Given the description of an element on the screen output the (x, y) to click on. 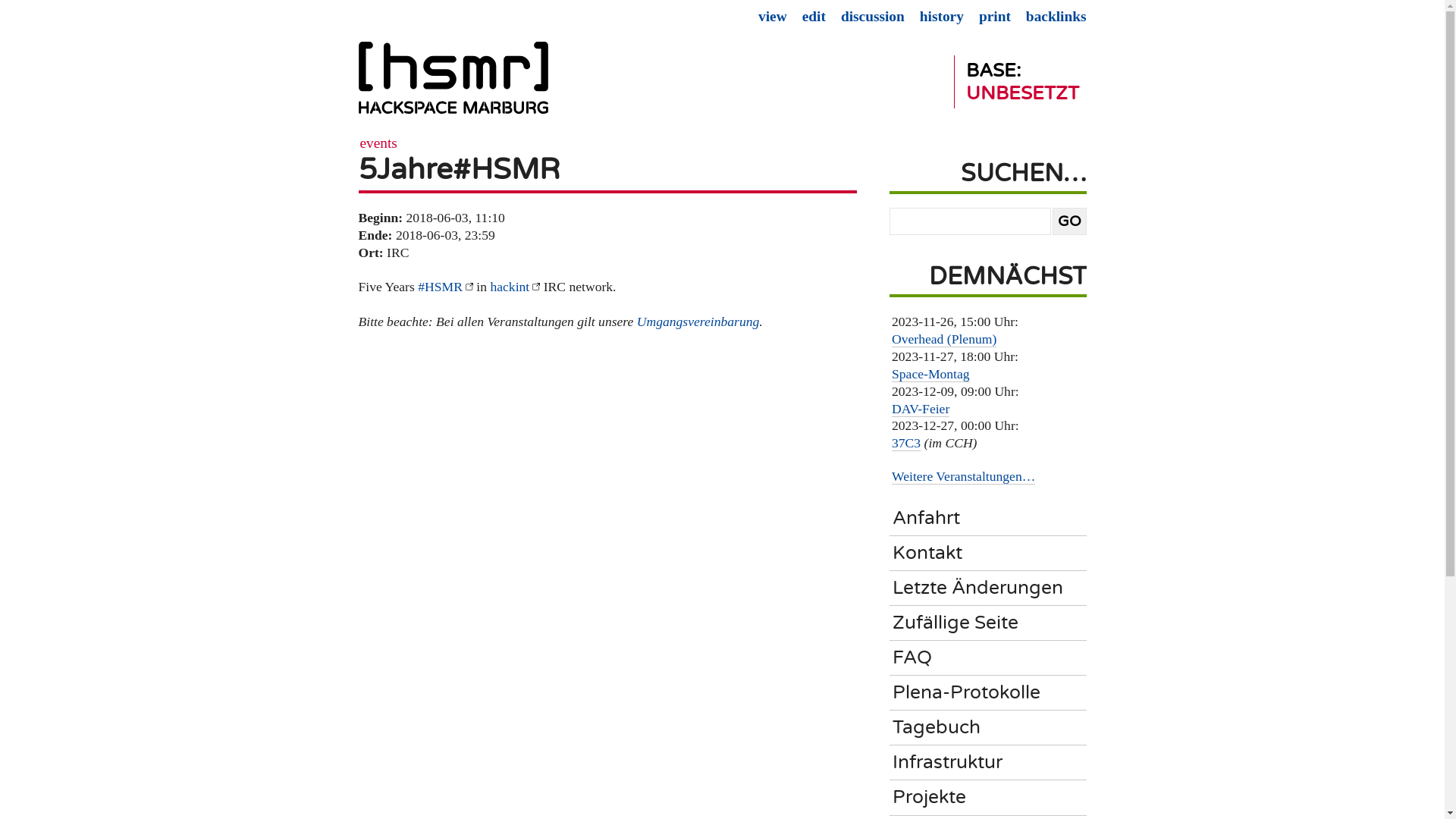
history Element type: text (941, 16)
DAV-Feier Element type: text (920, 409)
Tagebuch Element type: text (990, 727)
5Jahre#HSMR Element type: text (458, 169)
Kontakt Element type: text (990, 553)
#HSMR Element type: text (445, 286)
discussion Element type: text (872, 16)
FAQ Element type: text (990, 657)
BASE:
UNBESETZT Element type: text (1019, 81)
Overhead (Plenum) Element type: text (943, 339)
edit Element type: text (813, 16)
Projekte Element type: text (990, 797)
Plena-Protokolle Element type: text (990, 692)
Infrastruktur Element type: text (990, 762)
Umgangsvereinbarung Element type: text (698, 321)
Space-Montag Element type: text (930, 374)
Zur [hsmr] Hauptseite Element type: hover (452, 83)
backlinks Element type: text (1056, 16)
hackint Element type: text (514, 286)
Anfahrt Element type: text (990, 518)
view Element type: text (772, 16)
print Element type: text (994, 16)
Go Element type: text (1068, 221)
events Element type: text (377, 142)
37C3 Element type: text (905, 443)
